Given the description of an element on the screen output the (x, y) to click on. 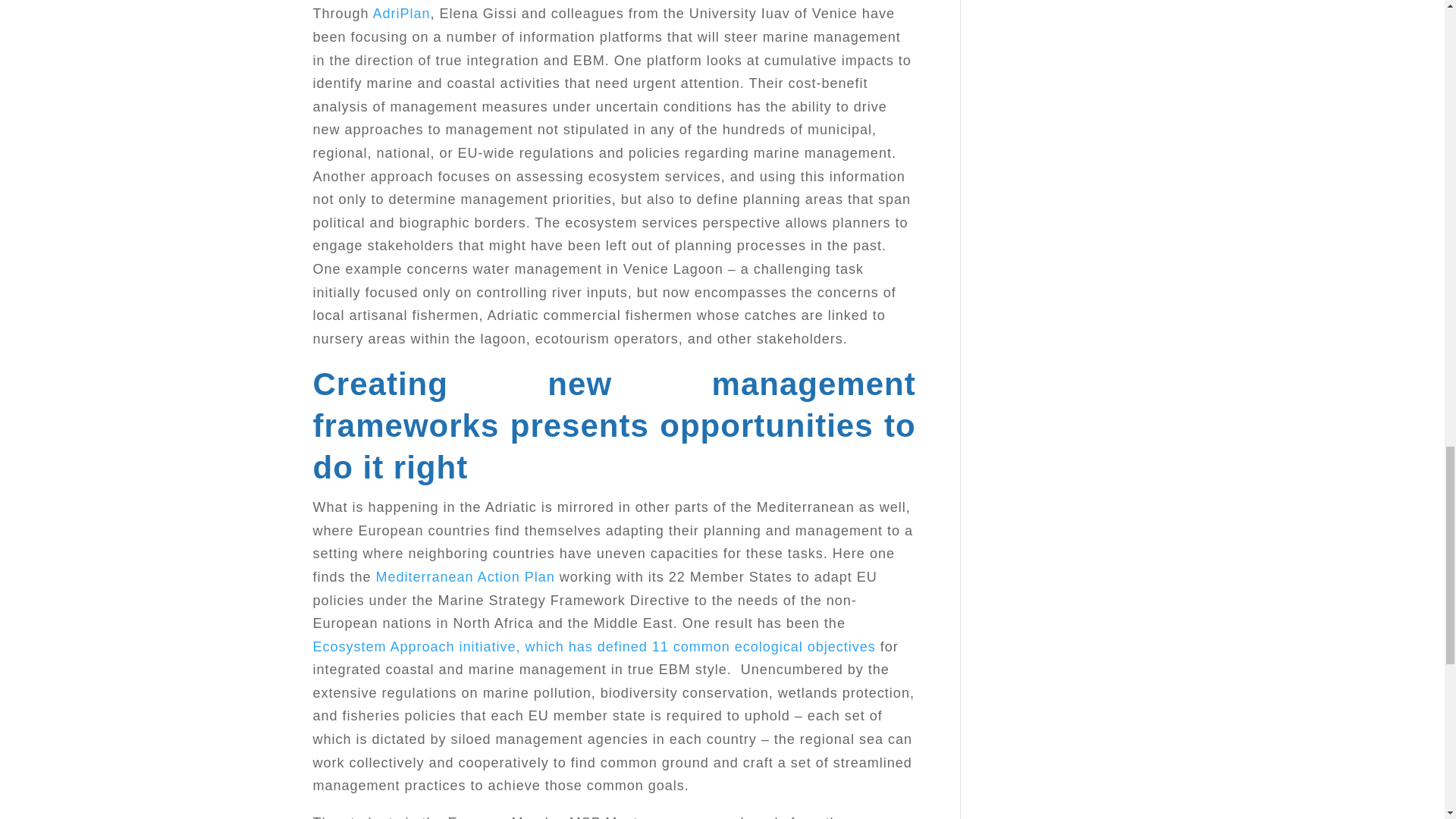
AdriPlan (401, 13)
Mediterranean Action Plan (464, 576)
